Given the description of an element on the screen output the (x, y) to click on. 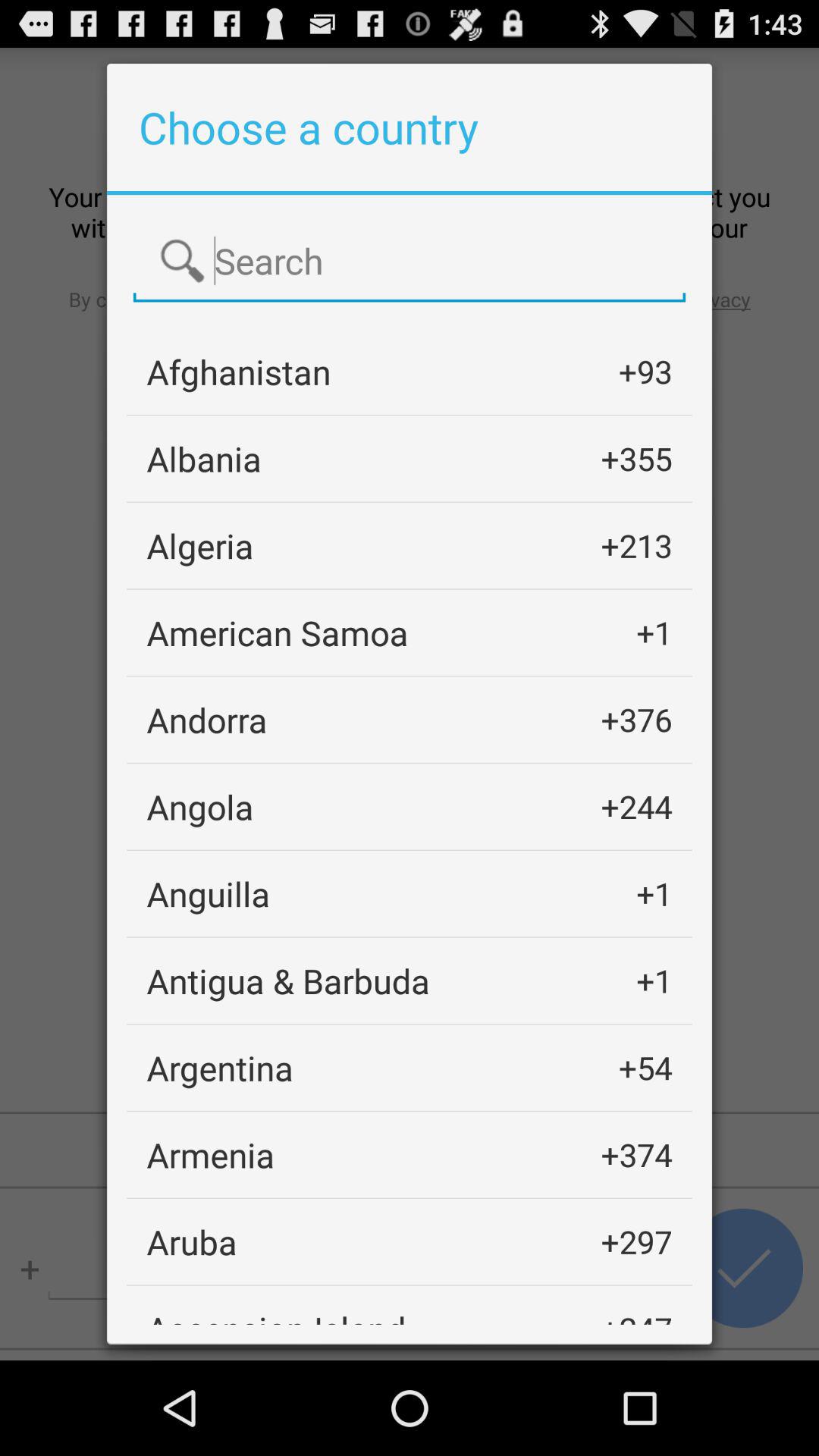
turn on the item next to +54 item (219, 1067)
